Given the description of an element on the screen output the (x, y) to click on. 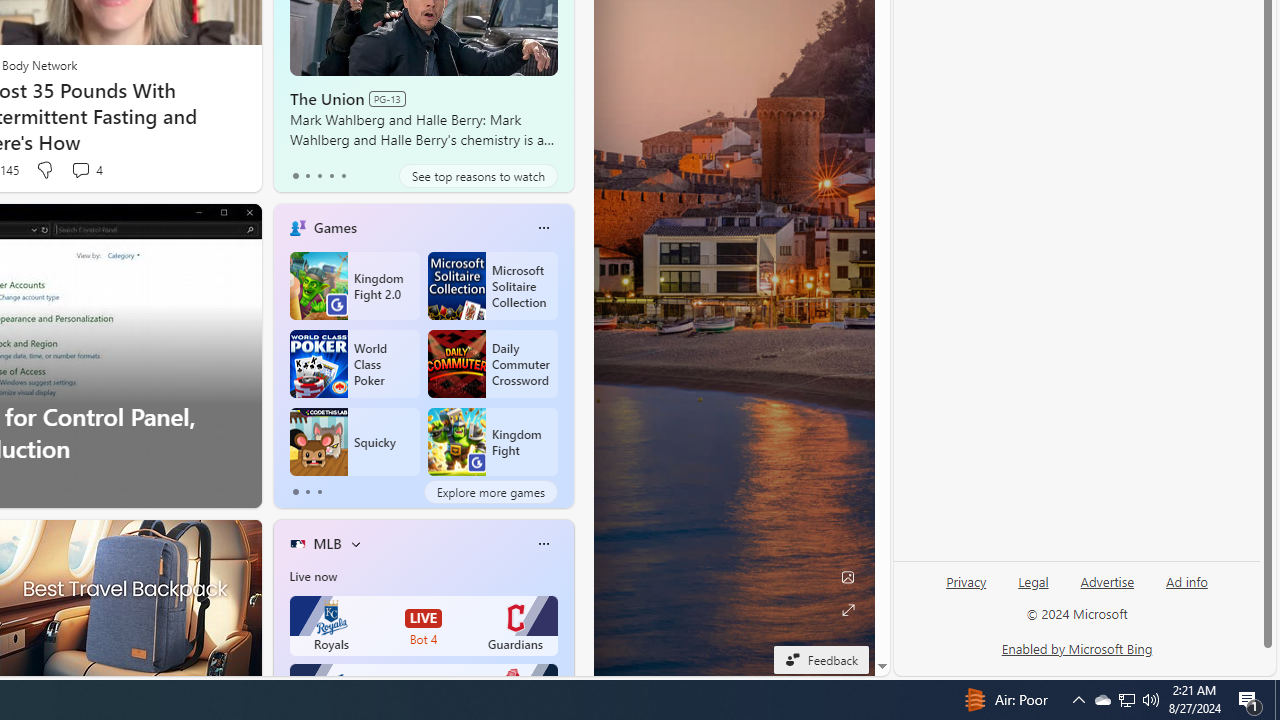
See top reasons to watch (478, 175)
More interests (355, 543)
Class: sd-card-game-item-img-inner (456, 441)
tab-4 (342, 175)
Explore more games (490, 491)
tab-1 (306, 491)
View comments 4 Comment (80, 169)
MLB (327, 543)
Class: icon-img (543, 543)
